Given the description of an element on the screen output the (x, y) to click on. 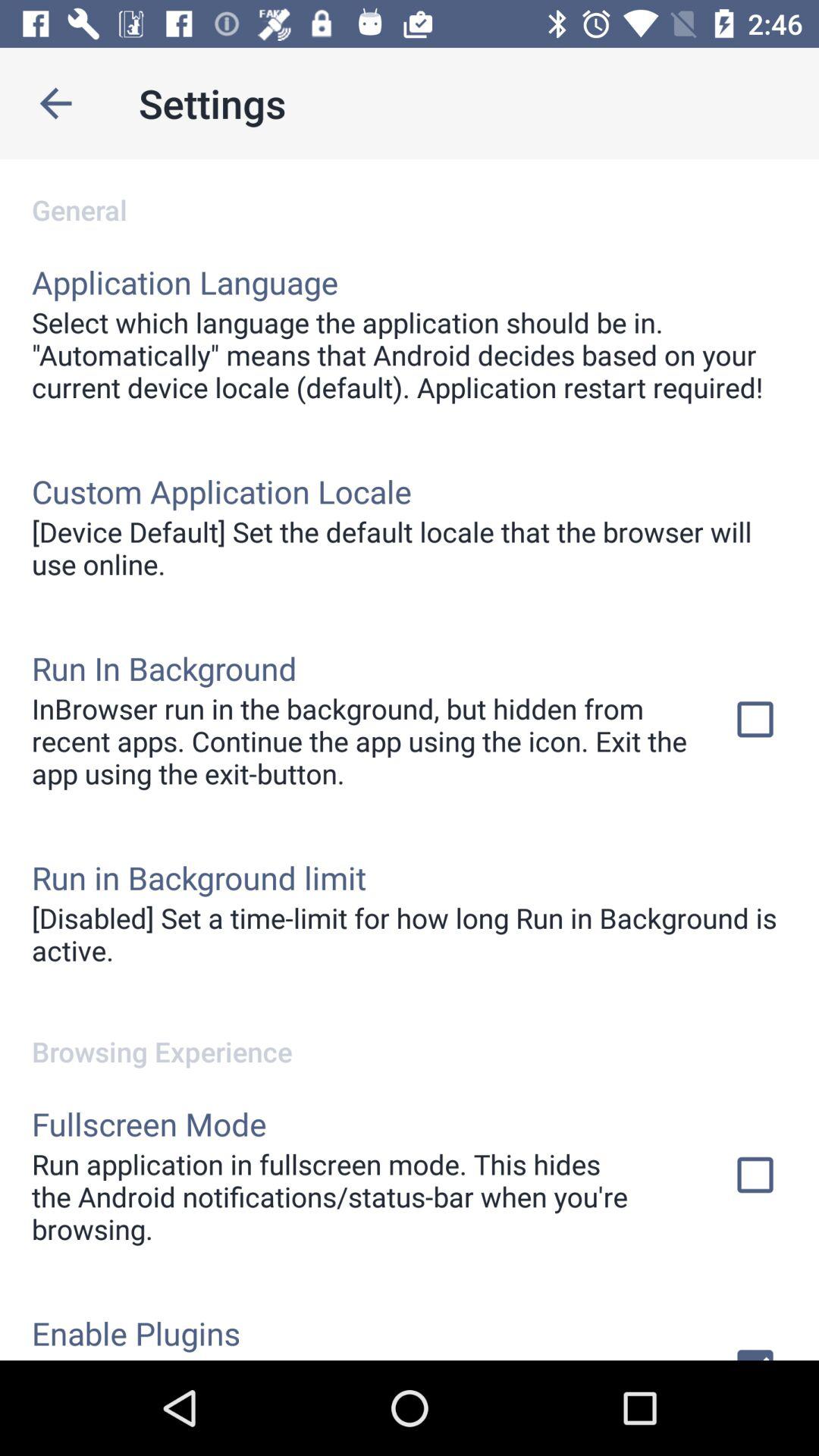
jump until the select which language icon (409, 354)
